Given the description of an element on the screen output the (x, y) to click on. 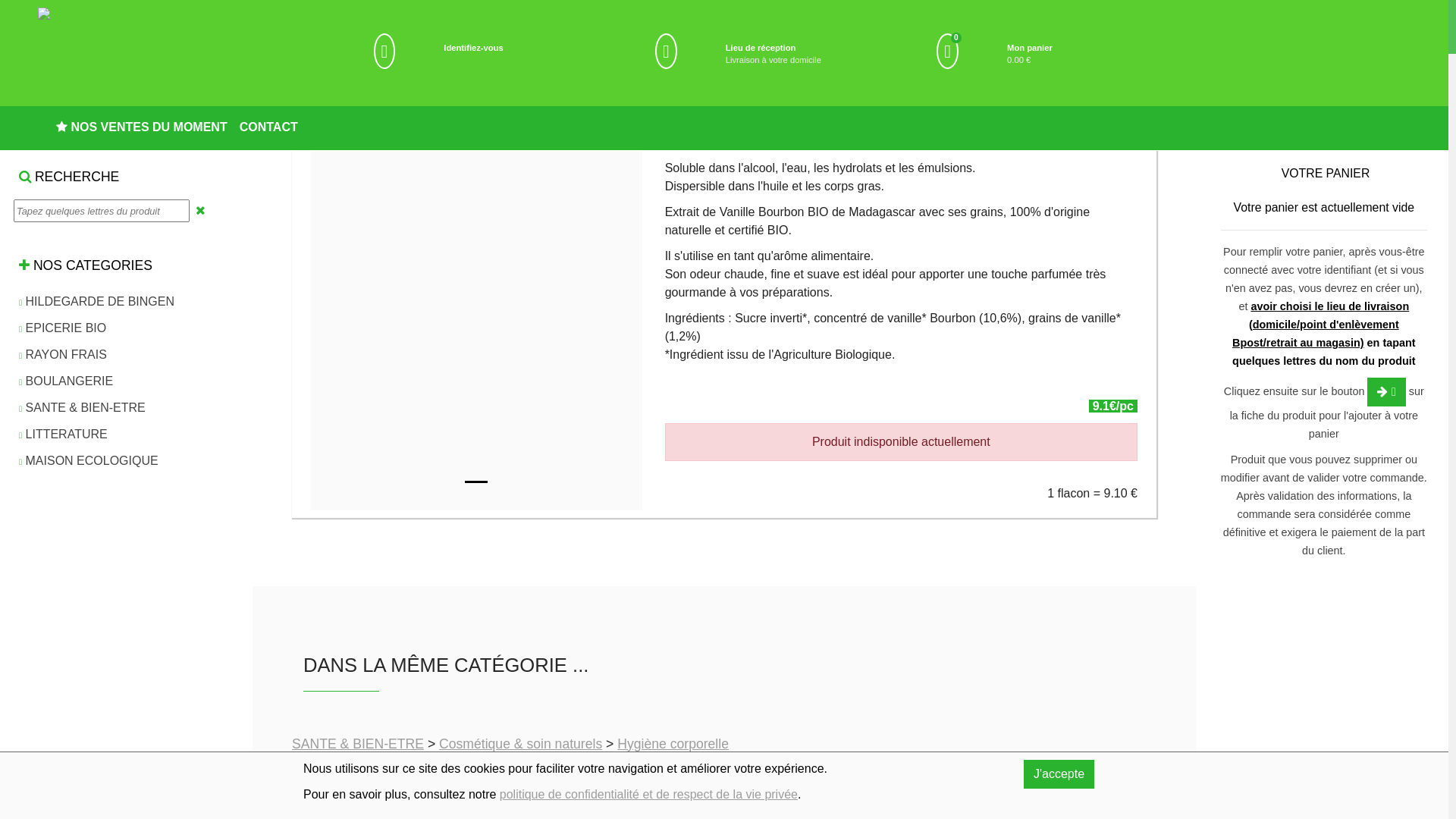
Identifiez-vous Element type: text (472, 47)
LITTERATURE Element type: text (62, 434)
MAISON ECOLOGIQUE Element type: text (88, 460)
BOULANGERIE Element type: text (65, 381)
CONTACT Element type: text (268, 124)
NOS VENTES DU MOMENT Element type: text (141, 124)
SANTE & BIEN-ETRE Element type: text (81, 407)
EPICERIE BIO Element type: text (62, 328)
HILDEGARDE DE BINGEN Element type: text (96, 301)
J'accepte Element type: text (1058, 773)
0 Element type: text (947, 51)
SANTE & BIEN-ETRE Element type: text (357, 744)
RAYON FRAIS Element type: text (62, 354)
